Given the description of an element on the screen output the (x, y) to click on. 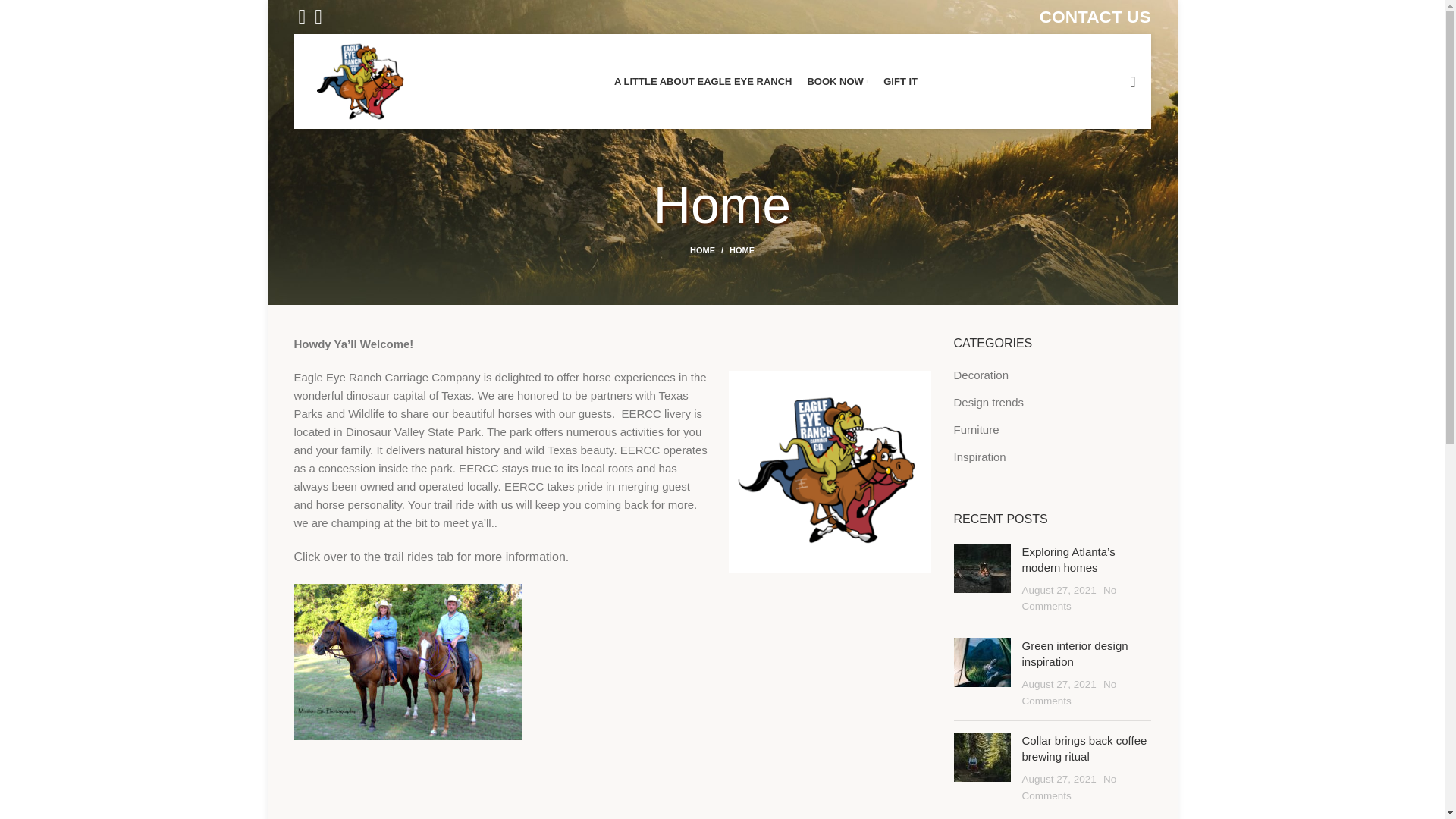
BOOK NOW (836, 81)
A LITTLE ABOUT EAGLE EYE RANCH (703, 81)
Decoration (981, 374)
Design trends (989, 401)
Green interior design inspiration (1075, 653)
Permalink to Collar brings back coffee brewing ritual (1084, 747)
Permalink to Green interior design inspiration (1075, 653)
Collar brings back coffee brewing ritual (1084, 747)
camping-blog-img-1 (981, 567)
No Comments (1069, 598)
